Given the description of an element on the screen output the (x, y) to click on. 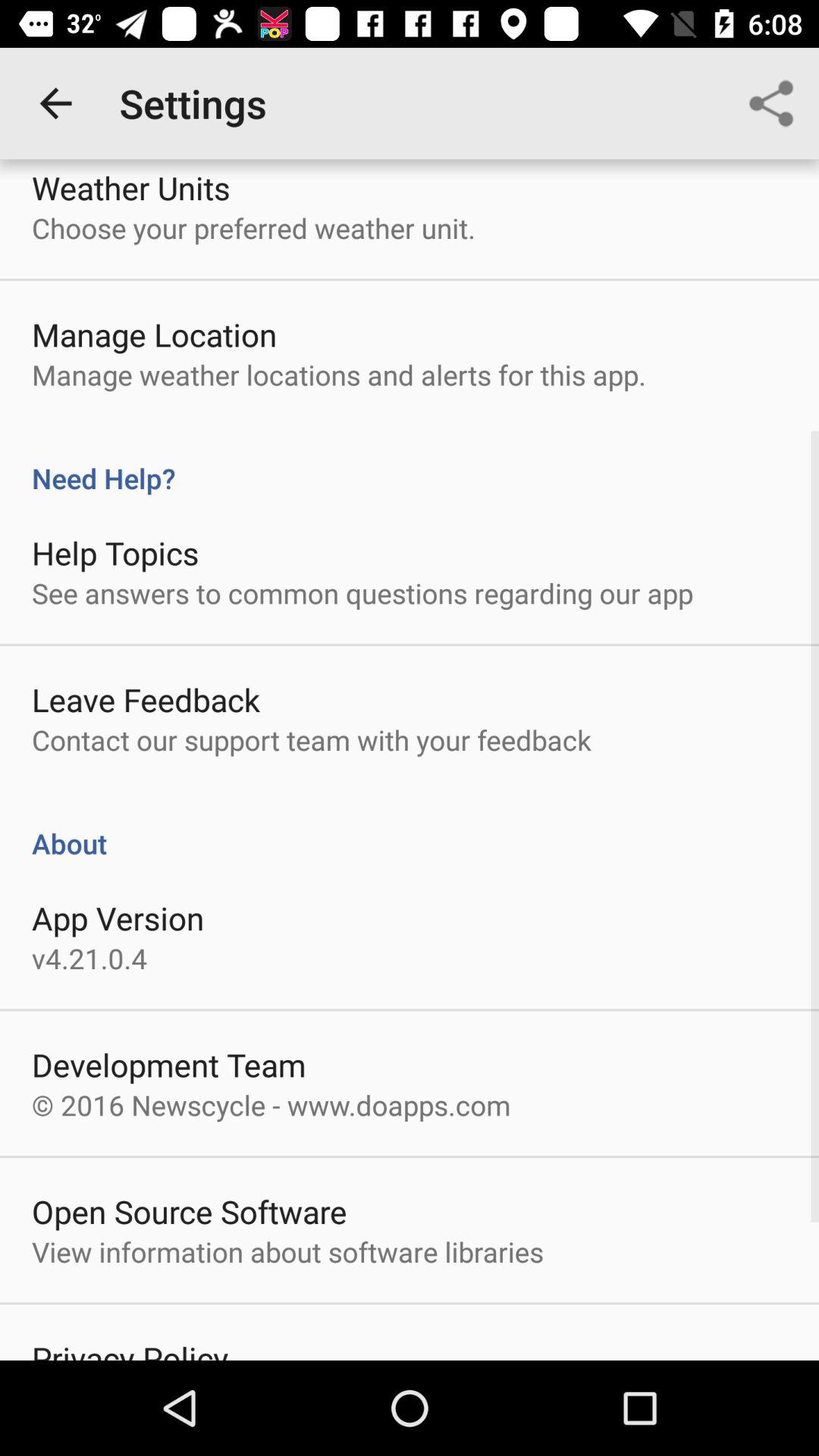
turn on the item below the leave feedback item (311, 739)
